Given the description of an element on the screen output the (x, y) to click on. 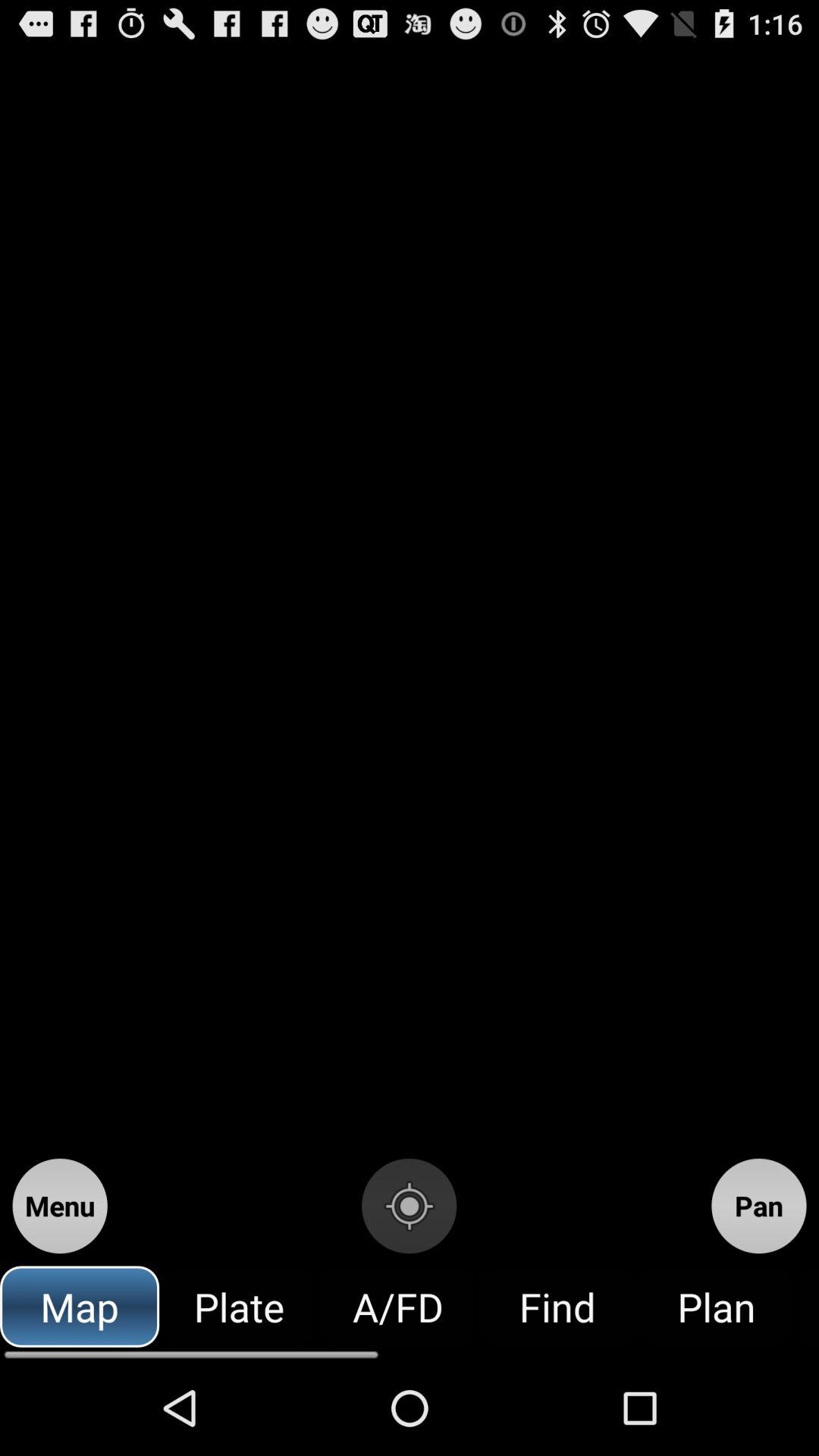
choose menu icon (59, 1205)
